Given the description of an element on the screen output the (x, y) to click on. 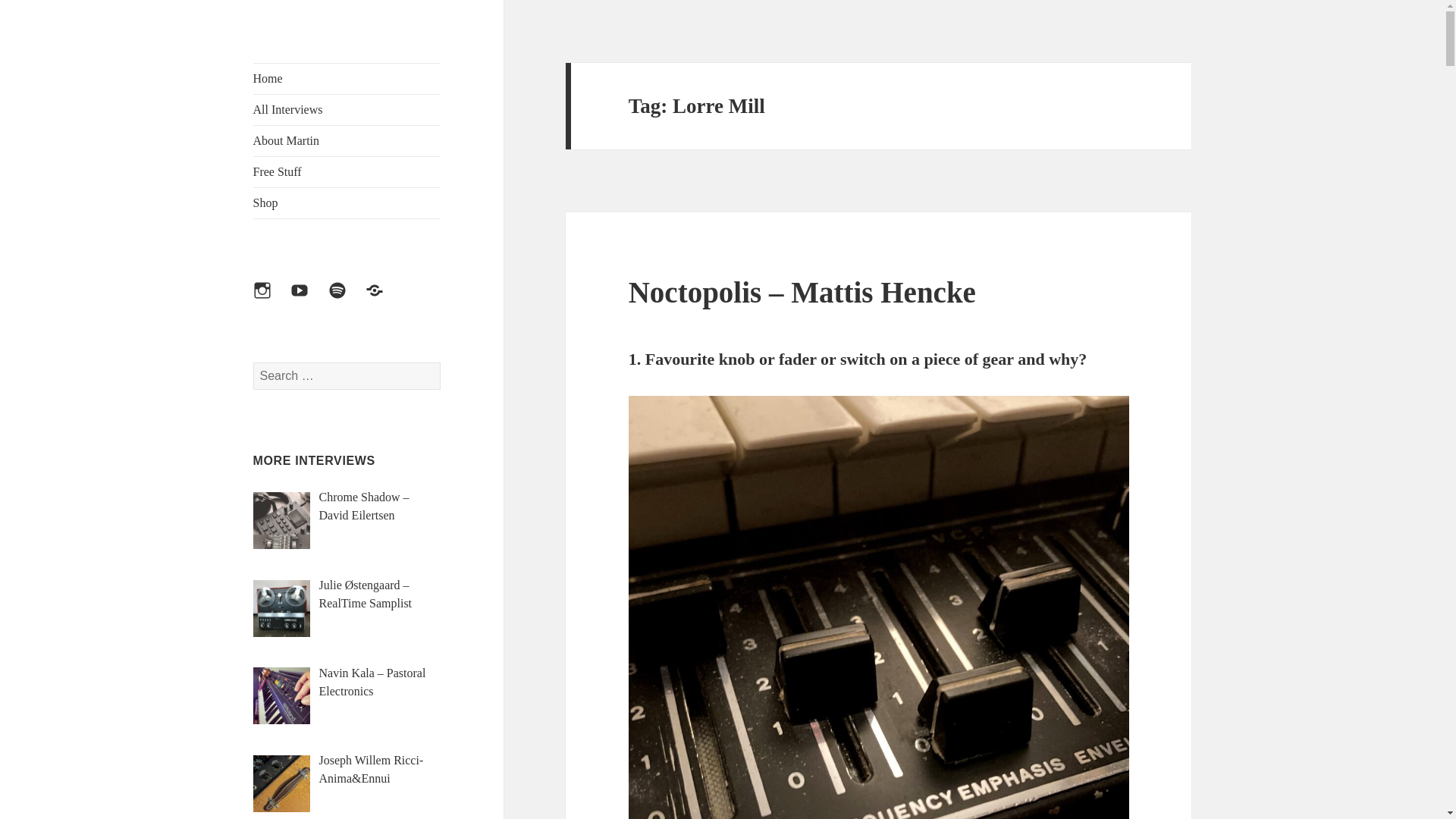
Martin Yam Moller YouTube (307, 299)
Martin Yam Moller Instagram (271, 299)
Home (347, 78)
Martin Yam Moller Spotify (347, 299)
Free Stuff (347, 172)
All Interviews (347, 110)
Martin Yam Moller Bandcamp (383, 299)
Shop (347, 203)
About Martin (347, 141)
